Given the description of an element on the screen output the (x, y) to click on. 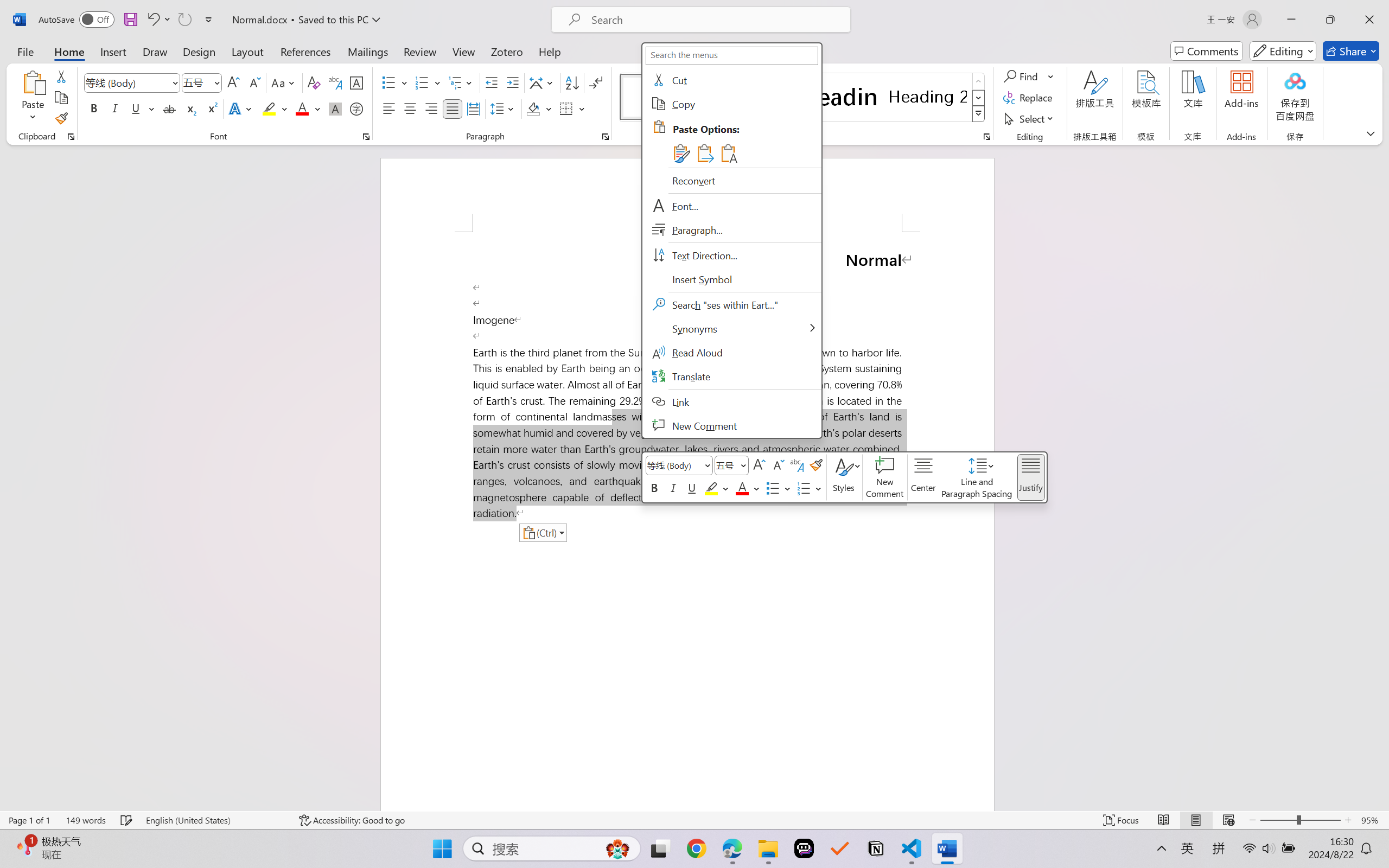
Action: Paste alternatives (542, 532)
Paragraph... (605, 136)
Paste Options (744, 141)
Insert Symbol (730, 279)
Font Color (308, 108)
Class: NetUIComboboxAnchor (730, 465)
Strikethrough (169, 108)
Text Highlight Color Yellow (269, 108)
Phonetic Guide... (334, 82)
Select (1030, 118)
